Given the description of an element on the screen output the (x, y) to click on. 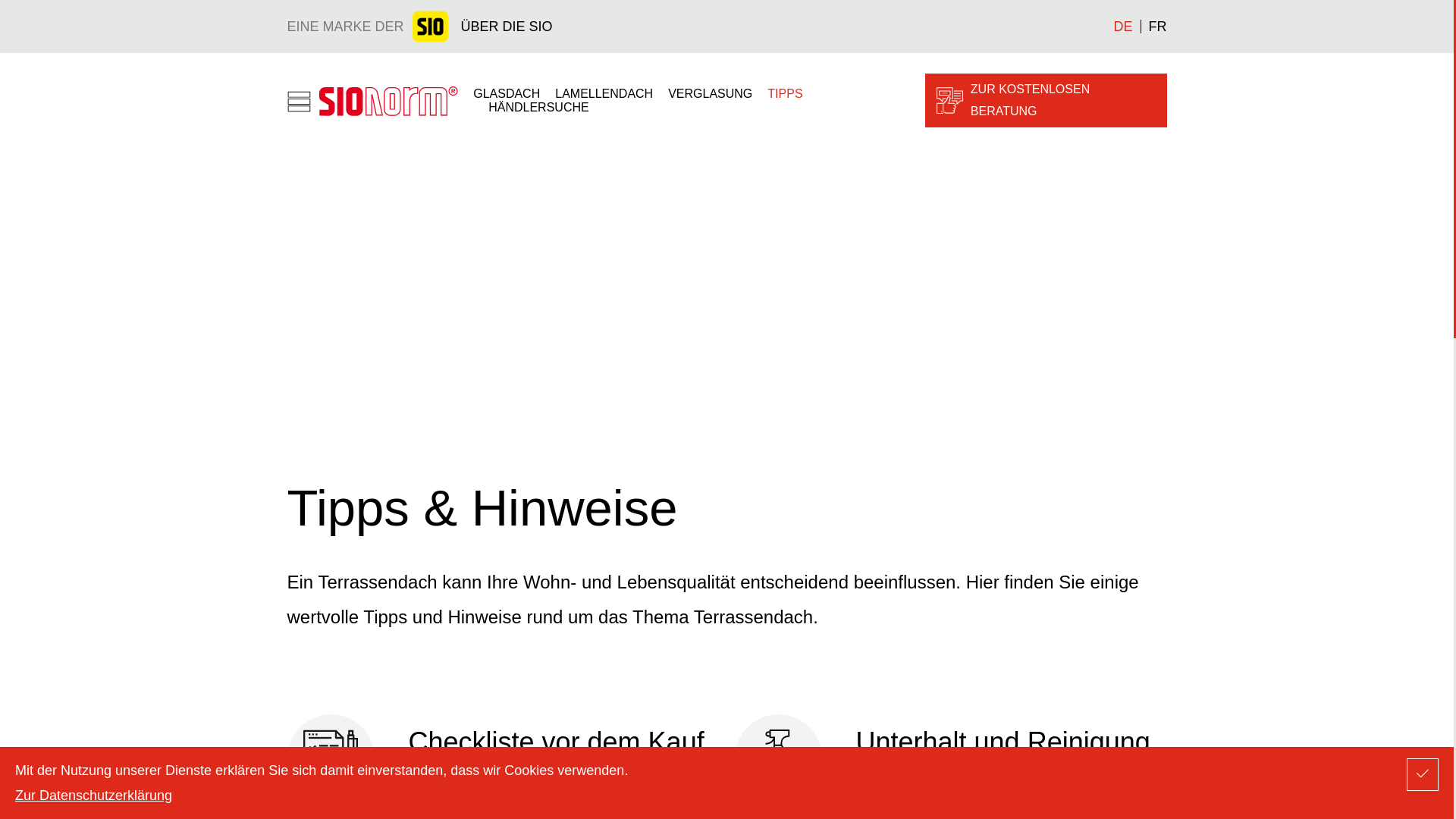
TIPPS Element type: text (784, 93)
SIONORM Terrassendach Element type: hover (372, 99)
VERGLASUNG Element type: text (710, 93)
LAMELLENDACH Element type: text (603, 93)
ZUR KOSTENLOSEN BERATUNG Element type: text (1045, 100)
FR Element type: text (1153, 26)
Unterhalt und Reinigung Element type: text (950, 757)
DE Element type: text (1126, 26)
Checkliste vor dem Kauf Element type: text (502, 757)
GLASDACH Element type: text (506, 93)
